Given the description of an element on the screen output the (x, y) to click on. 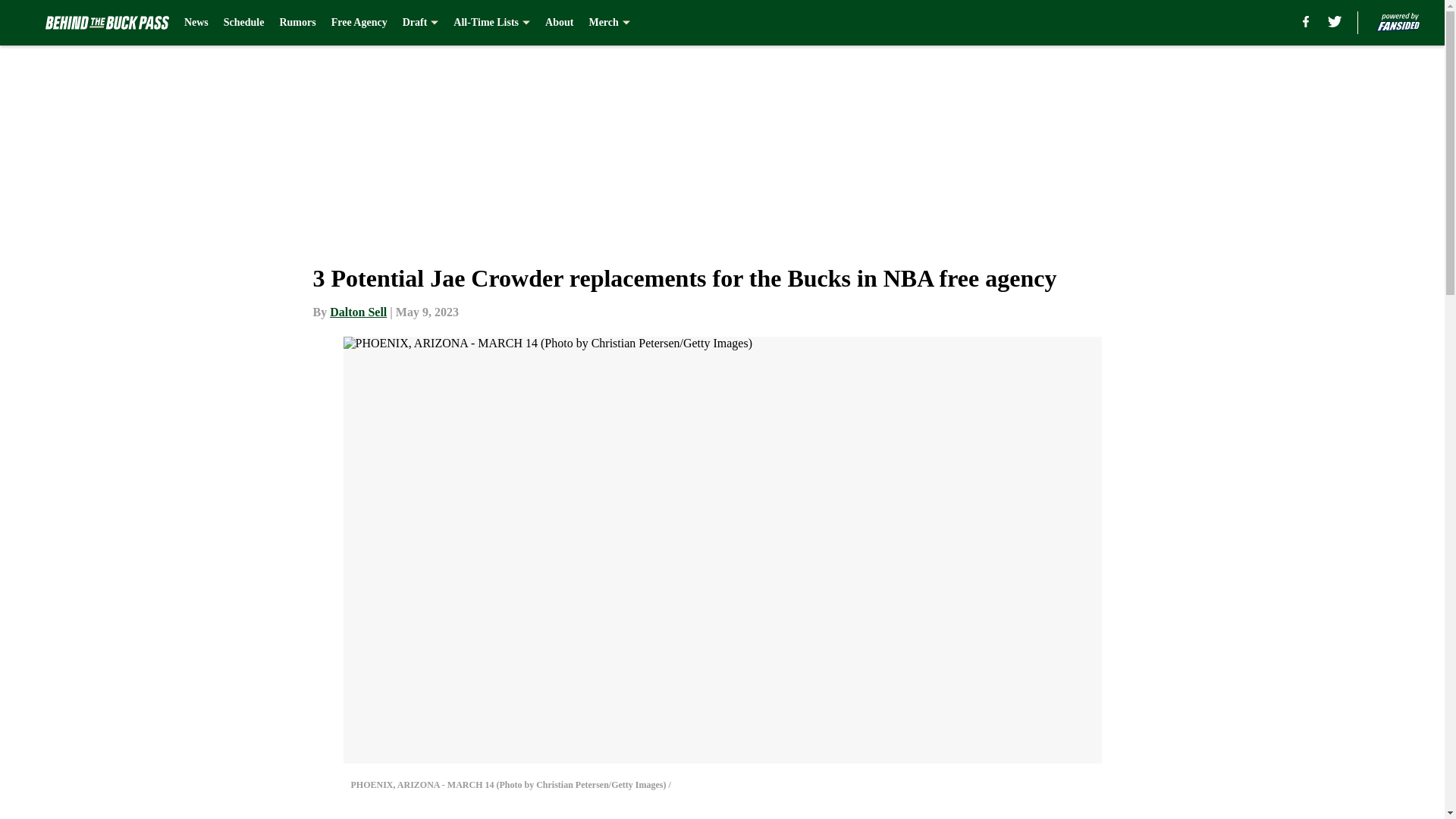
About (558, 22)
Free Agency (359, 22)
Rumors (297, 22)
Dalton Sell (358, 311)
Schedule (244, 22)
News (196, 22)
All-Time Lists (490, 22)
Draft (421, 22)
